Given the description of an element on the screen output the (x, y) to click on. 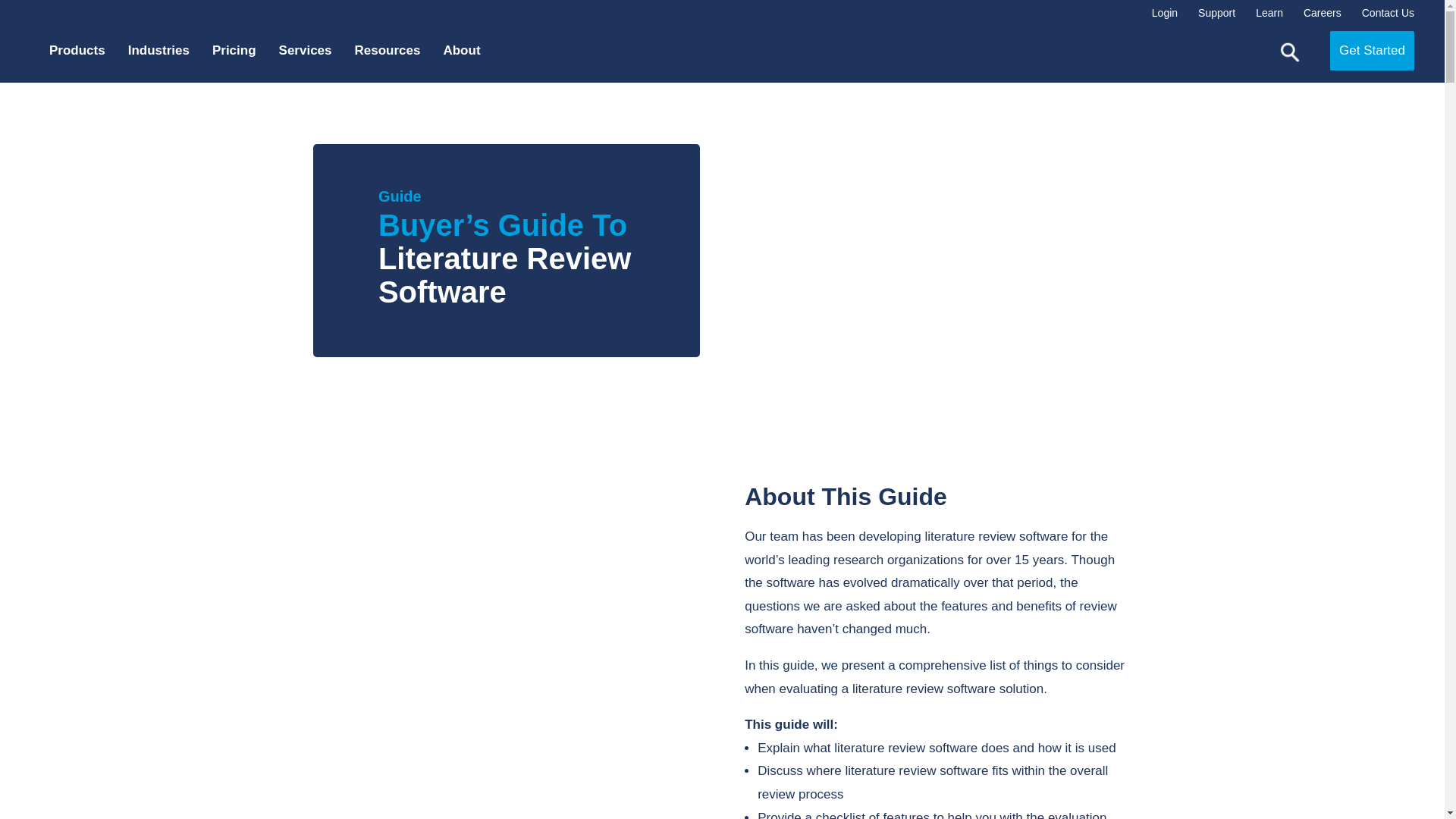
Resources (395, 50)
Services (313, 50)
Contact Us (1384, 12)
Support (1213, 12)
About (468, 50)
Pricing (241, 50)
Login (1162, 12)
Industries (166, 50)
Careers (1319, 12)
Products (84, 50)
Learn (1266, 12)
Search (1289, 51)
